Given the description of an element on the screen output the (x, y) to click on. 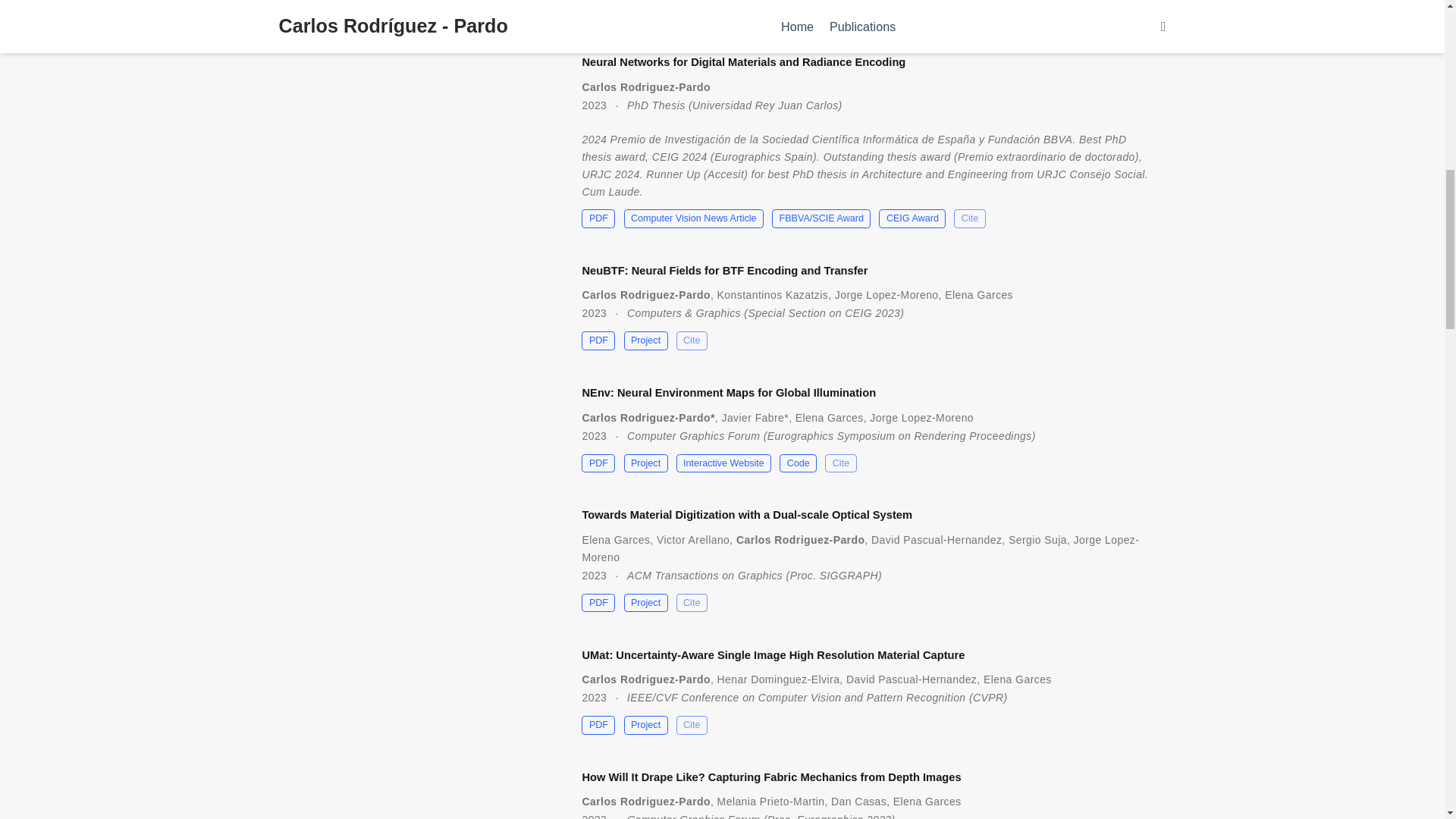
PyPi (929, 10)
CEIG Award (911, 218)
Cite (970, 10)
Project (836, 10)
Computer Vision News Article (693, 218)
Video (786, 10)
Neural Networks for Digital Materials and Radiance Encoding (742, 61)
NeuBTF: Neural Fields for BTF Encoding and Transfer (723, 270)
Cite (969, 218)
Supplementary (669, 10)
